Given the description of an element on the screen output the (x, y) to click on. 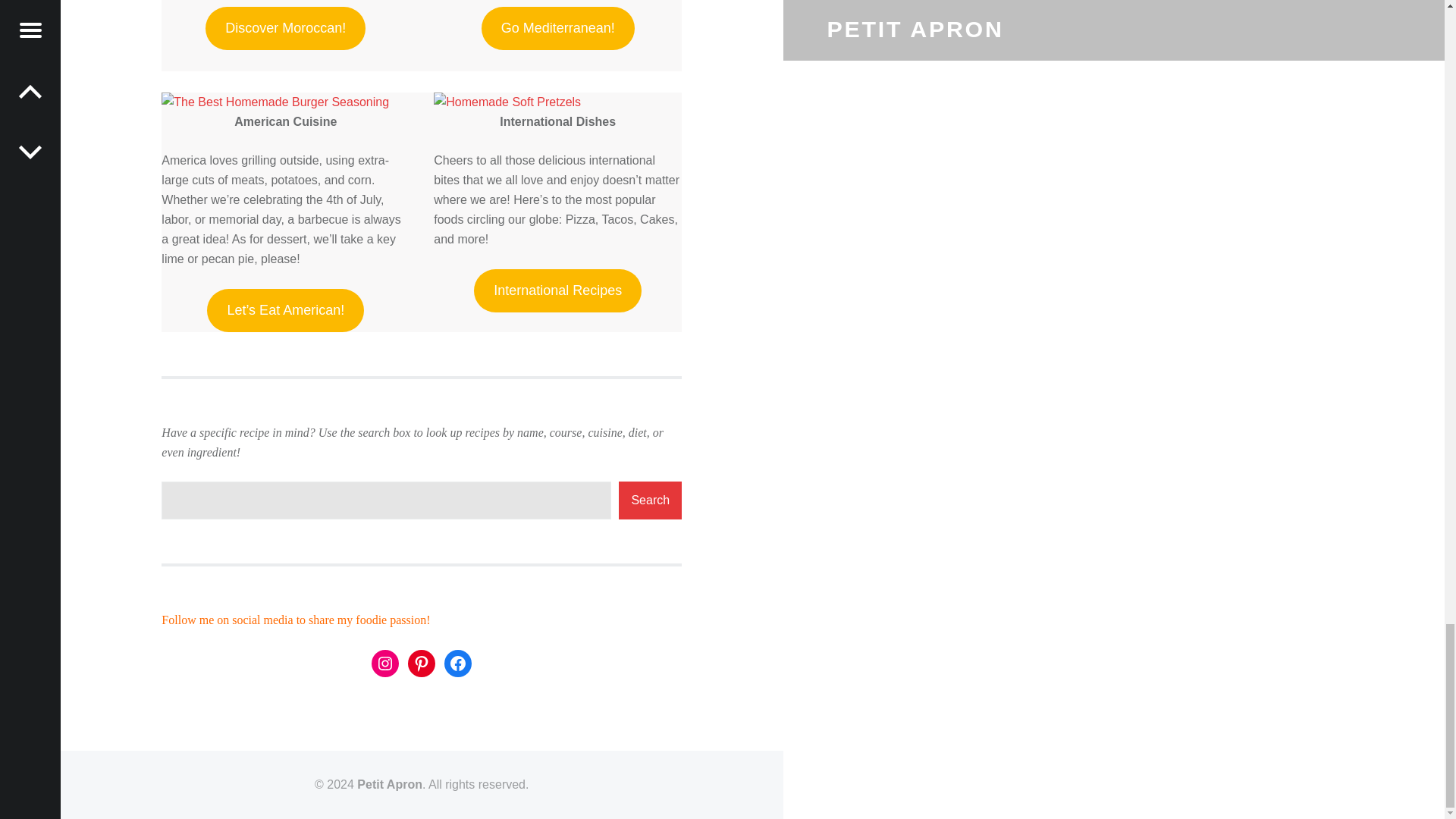
International Recipes (558, 290)
Petit Apron (389, 784)
Go Mediterranean! (557, 27)
Search (649, 500)
Discover Moroccan! (285, 27)
